Given the description of an element on the screen output the (x, y) to click on. 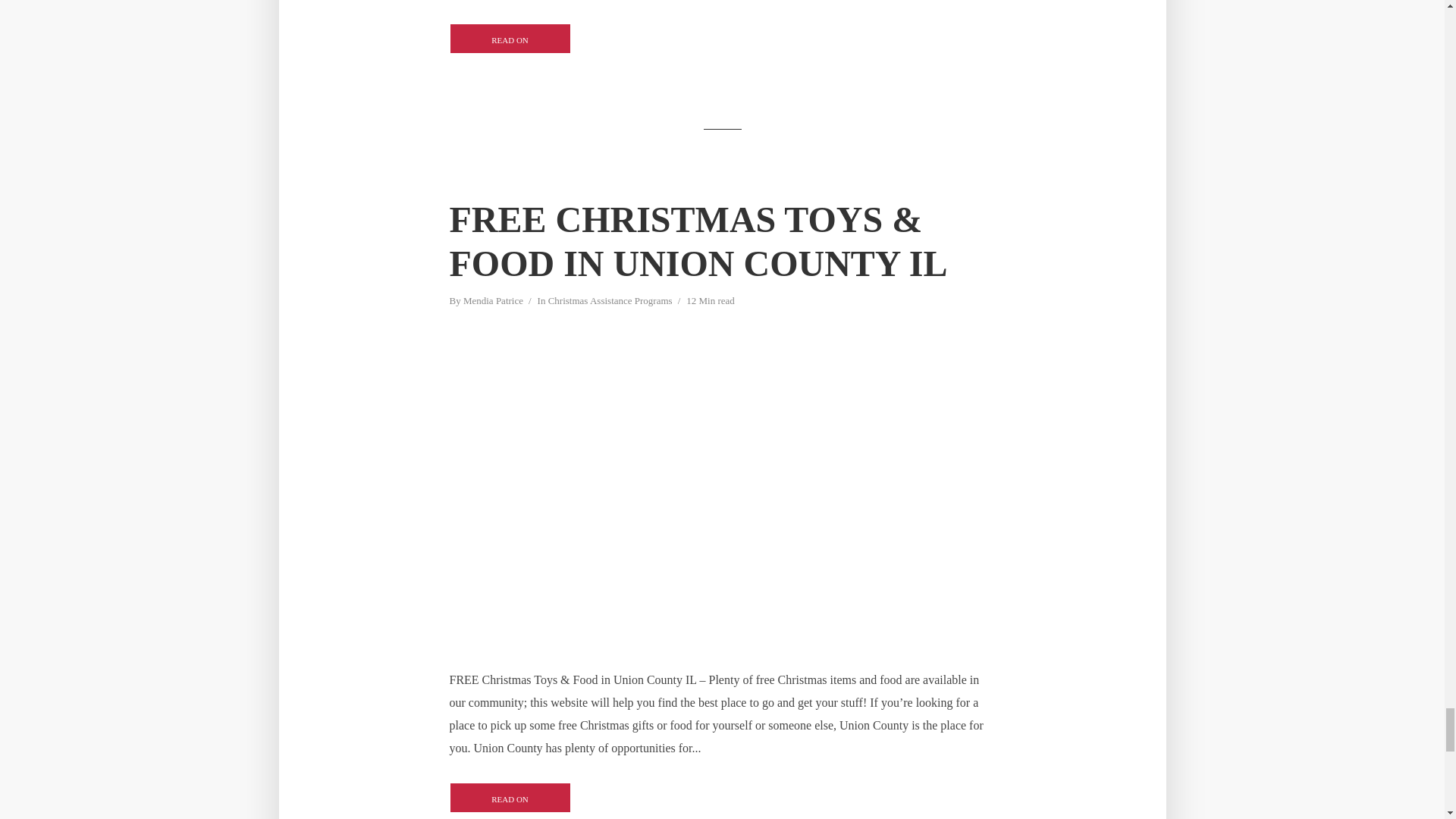
Mendia Patrice (492, 301)
READ ON (509, 797)
READ ON (509, 38)
Christmas Assistance Programs (610, 301)
